Given the description of an element on the screen output the (x, y) to click on. 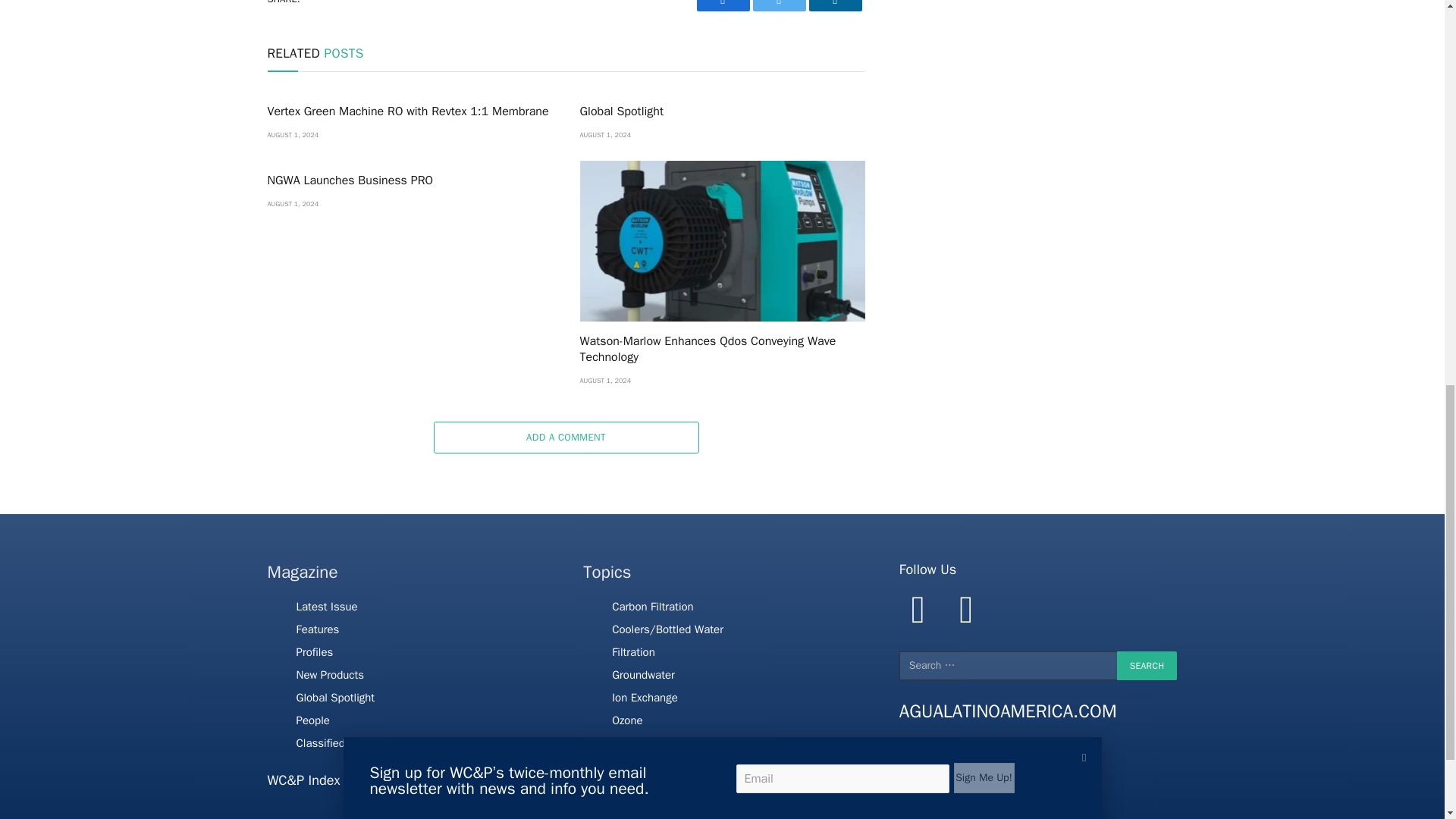
Share on Twitter (722, 5)
Search (1146, 665)
Share on LinkedIn (834, 5)
Share on Twitter (778, 5)
Search (1146, 665)
